Given the description of an element on the screen output the (x, y) to click on. 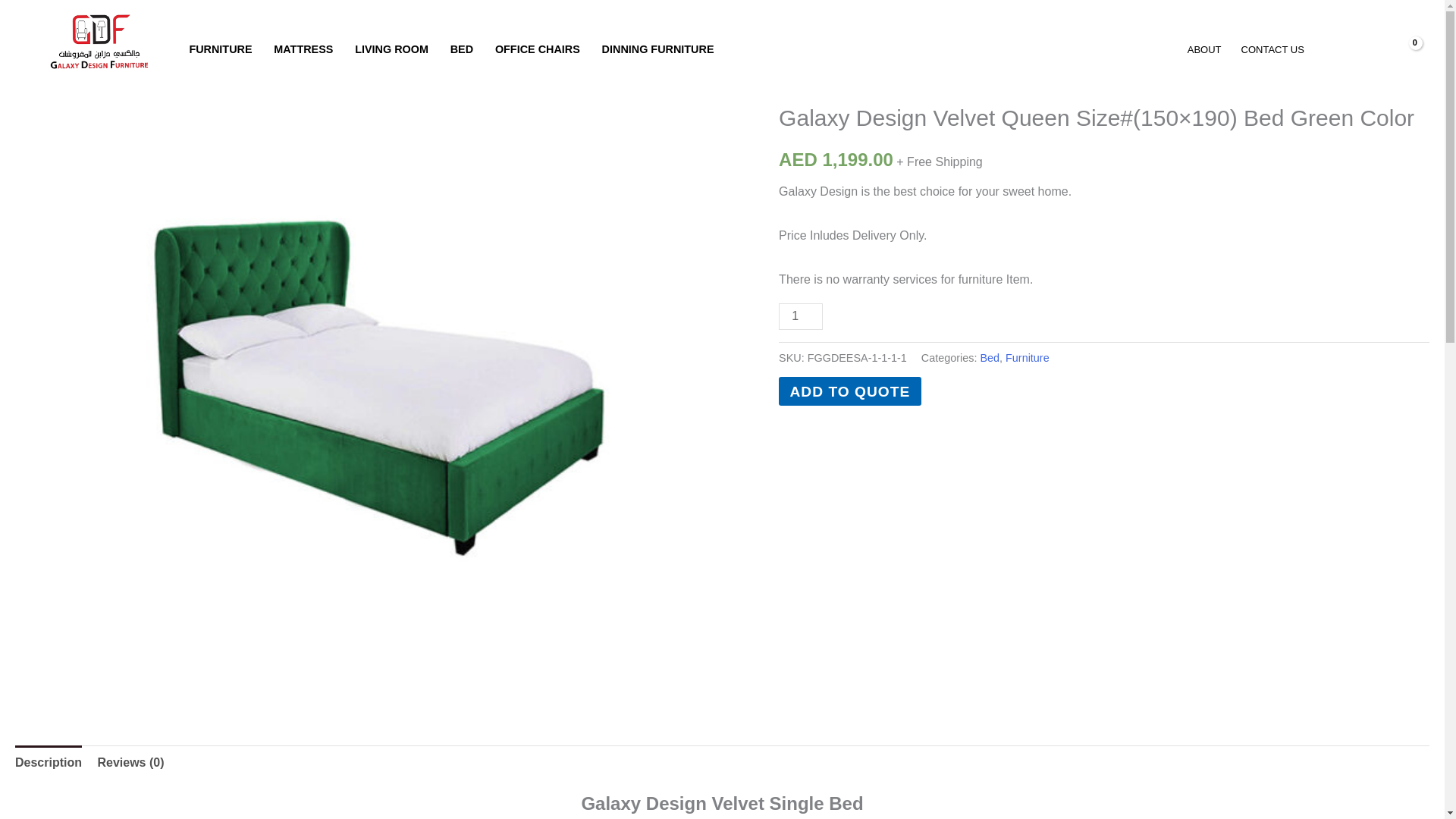
MATTRESS (303, 49)
1 (800, 316)
CONTACT US (1272, 49)
LIVING ROOM (391, 49)
ABOUT (1204, 49)
Description (47, 762)
AED 0.00 (1373, 48)
ADD TO QUOTE (849, 390)
DINNING FURNITURE (658, 49)
Bed (988, 357)
Bed (881, 58)
FURNITURE (220, 49)
Furniture (1027, 357)
Home (793, 58)
Furniture (831, 85)
